Given the description of an element on the screen output the (x, y) to click on. 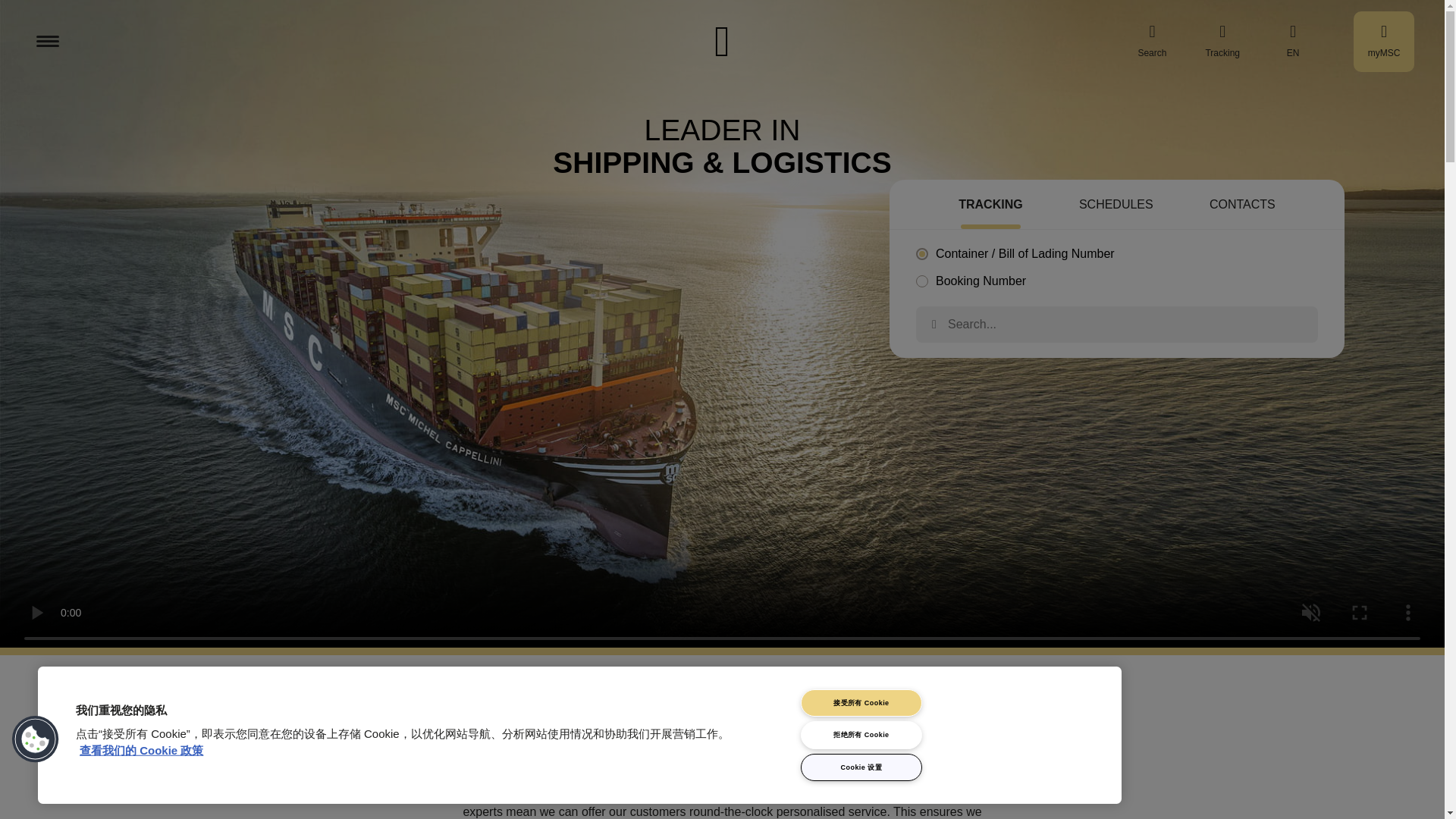
SCHEDULES (1116, 205)
TRACKING (989, 205)
Cookies Button (36, 739)
CONTACTS (1241, 205)
